Given the description of an element on the screen output the (x, y) to click on. 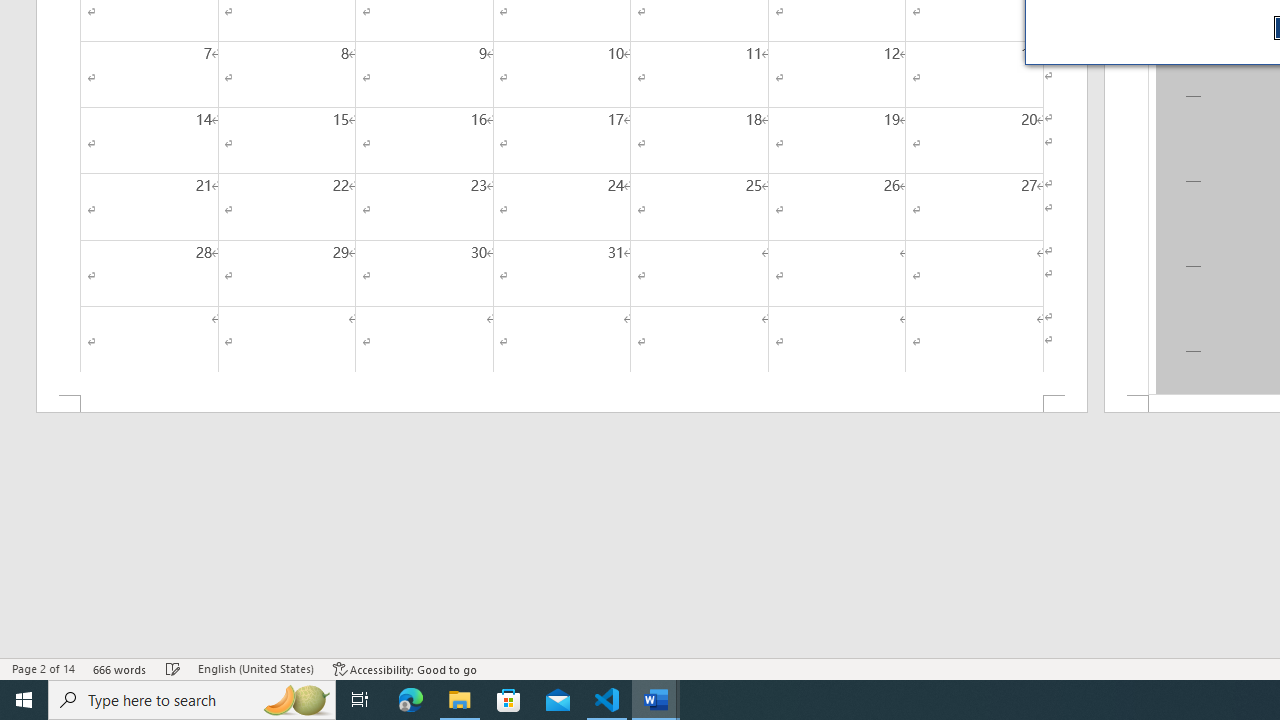
Microsoft Edge (411, 699)
Task View (359, 699)
Word Count 666 words (119, 668)
Accessibility Checker Accessibility: Good to go (405, 668)
Spelling and Grammar Check Checking (173, 668)
Footer -Section 1- (561, 404)
Visual Studio Code - 1 running window (607, 699)
Word - 2 running windows (656, 699)
Type here to search (191, 699)
Microsoft Store (509, 699)
Page Number Page 2 of 14 (43, 668)
Language English (United States) (255, 668)
File Explorer - 1 running window (460, 699)
